Given the description of an element on the screen output the (x, y) to click on. 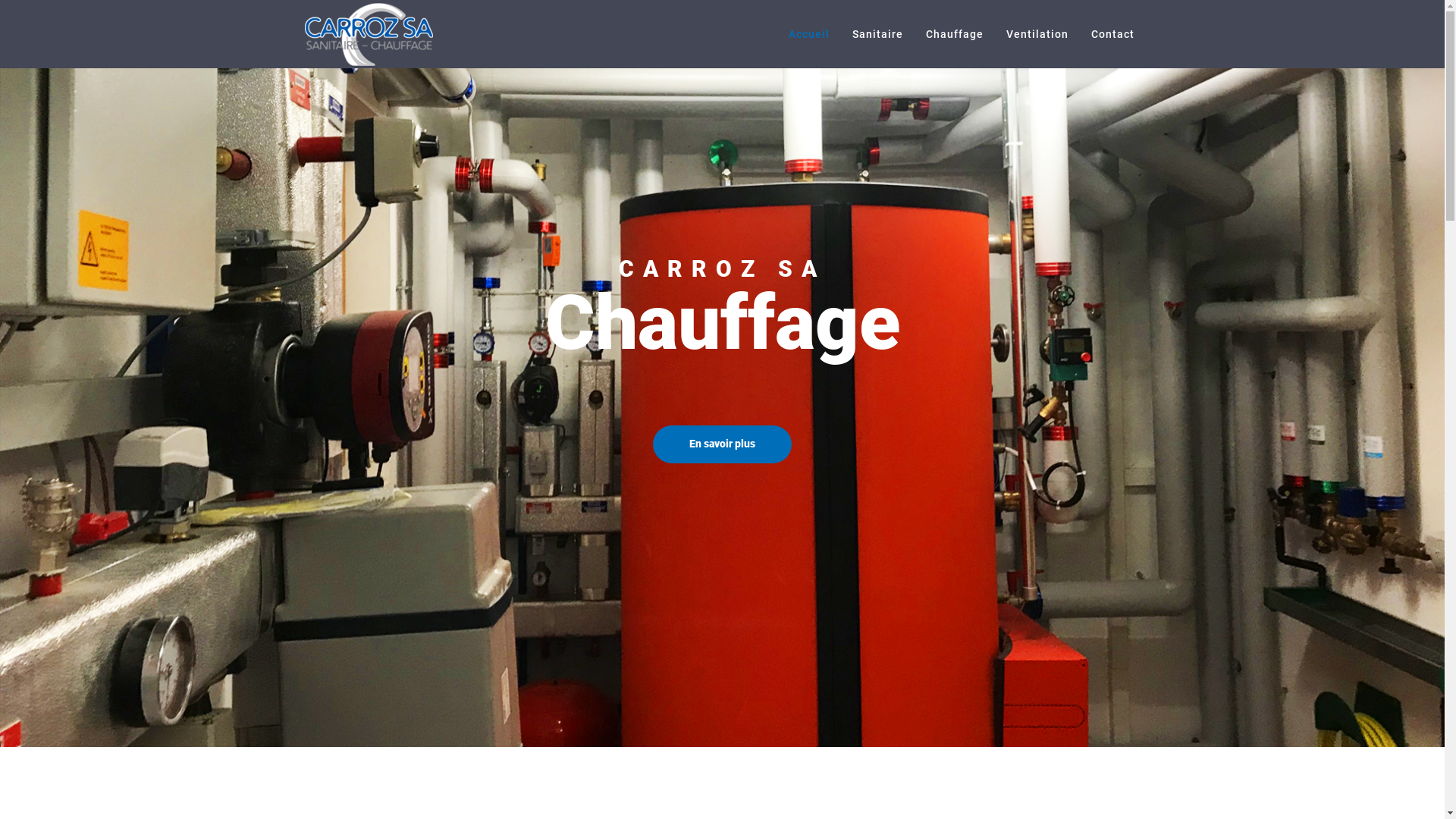
Sanitaire Element type: text (876, 34)
Contact Element type: text (1112, 34)
Accueil Element type: text (808, 34)
En savoir plus Element type: text (721, 444)
Chauffage Element type: text (954, 34)
Ventilation Element type: text (1036, 34)
